Given the description of an element on the screen output the (x, y) to click on. 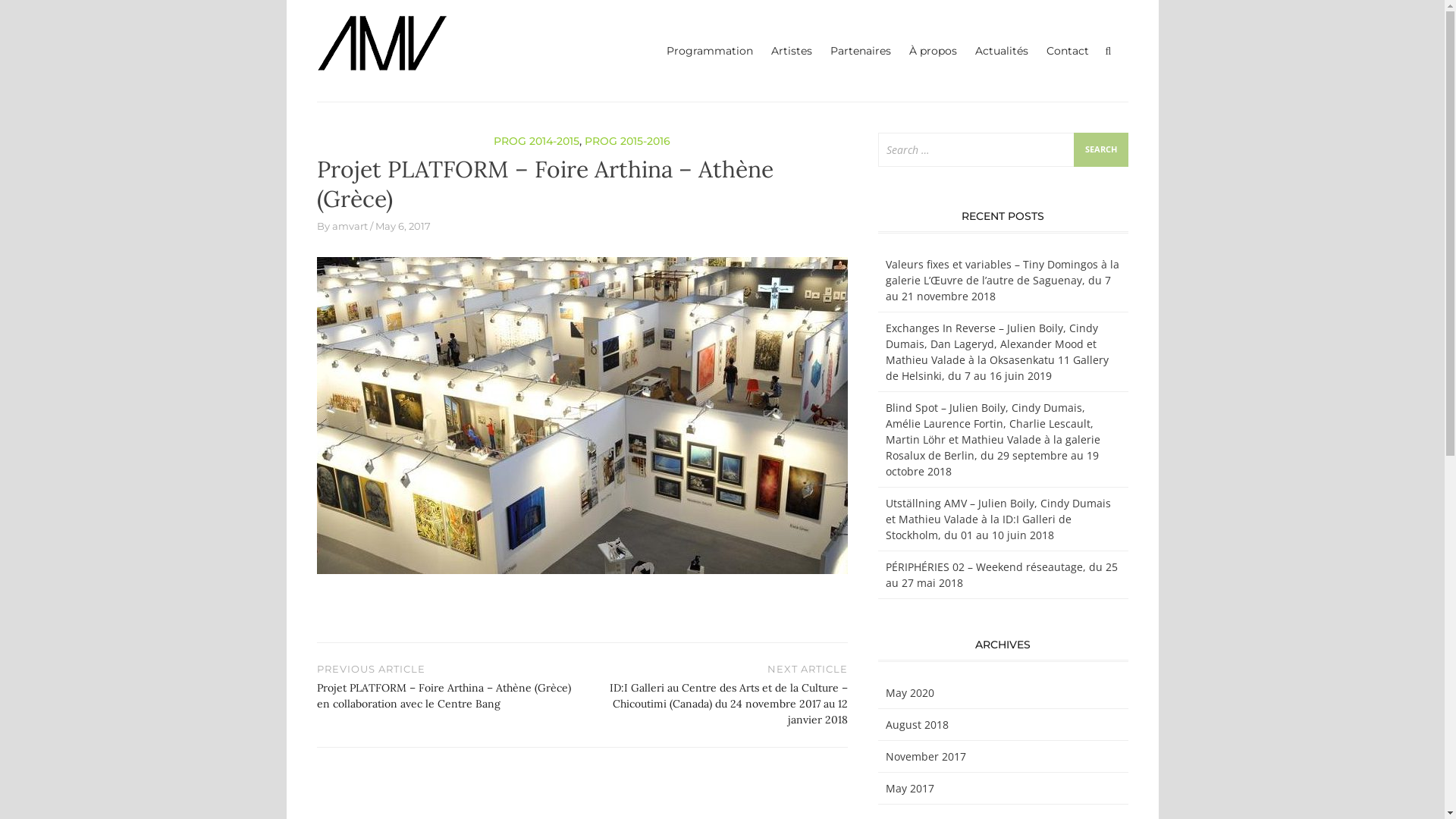
PROG 2015-2016 Element type: text (627, 140)
Partenaires Element type: text (859, 50)
August 2018 Element type: text (916, 724)
PROG 2014-2015 Element type: text (536, 140)
May 2017 Element type: text (909, 788)
Programmation Element type: text (708, 50)
Search Element type: text (1100, 149)
Contact Element type: text (1067, 50)
Skip to content Element type: text (300, 14)
November 2017 Element type: text (925, 756)
May 2020 Element type: text (909, 692)
amvart Element type: text (349, 225)
Artistes Element type: text (790, 50)
May 6, 2017 Element type: text (401, 225)
AMV Element type: text (488, 40)
